Given the description of an element on the screen output the (x, y) to click on. 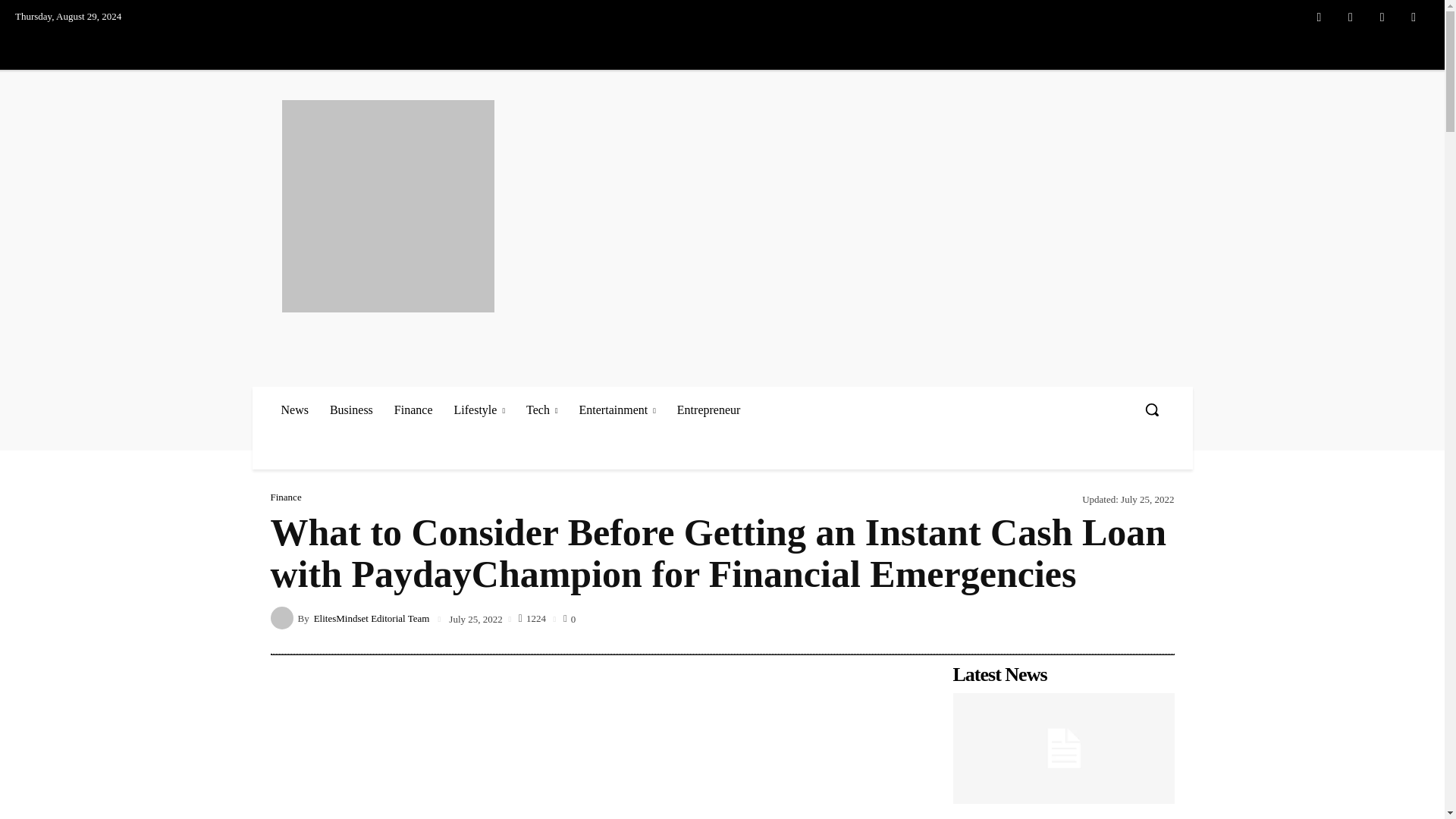
Instagram (1351, 17)
News (293, 409)
Twitter (1382, 17)
Youtube (1413, 17)
Finance (414, 409)
Tech (542, 409)
Facebook (1319, 17)
Business (351, 409)
Lifestyle (478, 409)
Entertainment (617, 409)
